Given the description of an element on the screen output the (x, y) to click on. 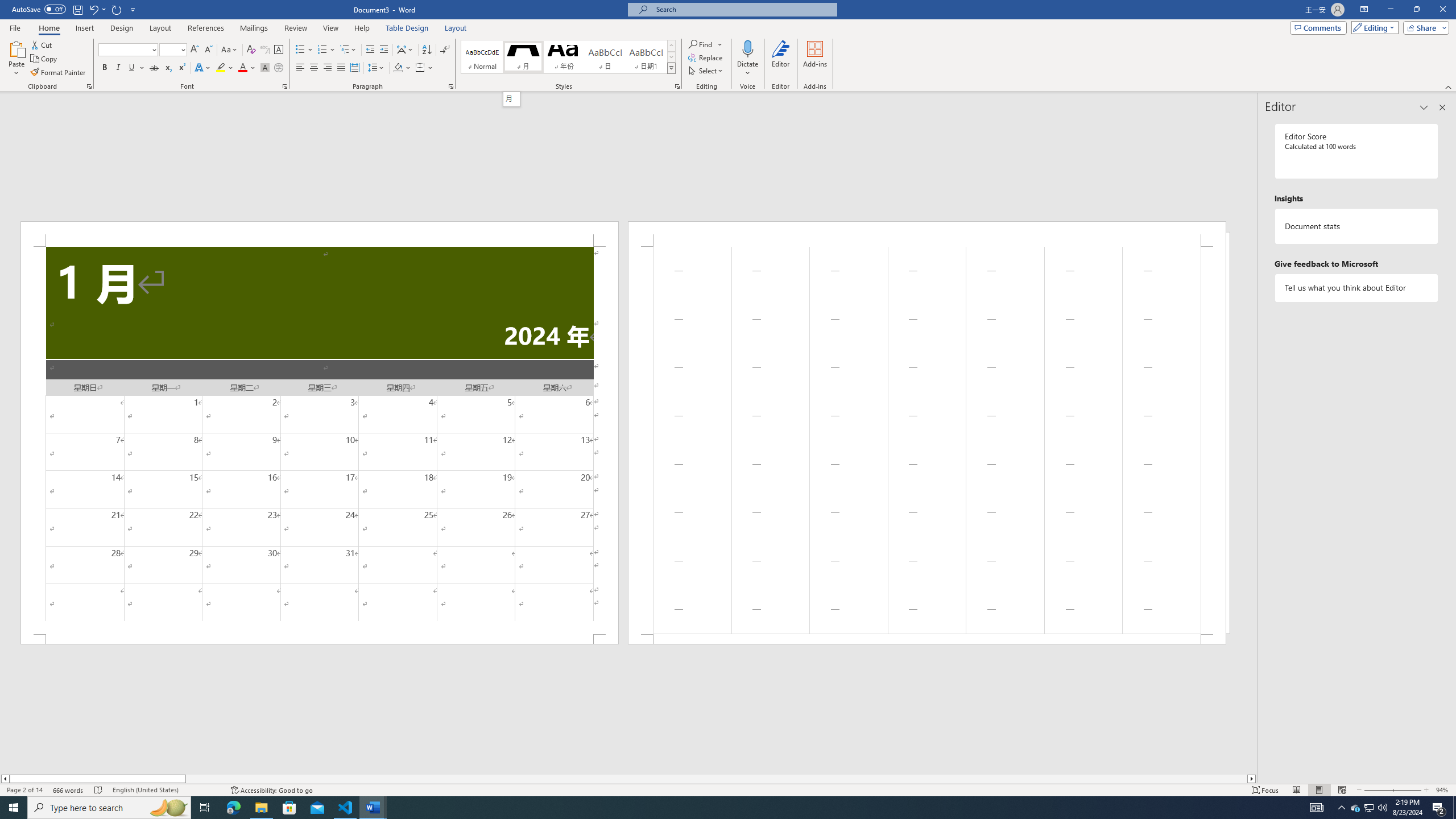
Text Highlight Color (224, 67)
Undo Apply Quick Style (96, 9)
Accessibility Checker Accessibility: Good to go (271, 790)
Shrink Font (208, 49)
Align Right (327, 67)
Footer -Section 1- (926, 638)
Class: NetUIScrollBar (628, 778)
Font Color RGB(255, 0, 0) (241, 67)
Change Case (229, 49)
Microsoft search (742, 9)
